Given the description of an element on the screen output the (x, y) to click on. 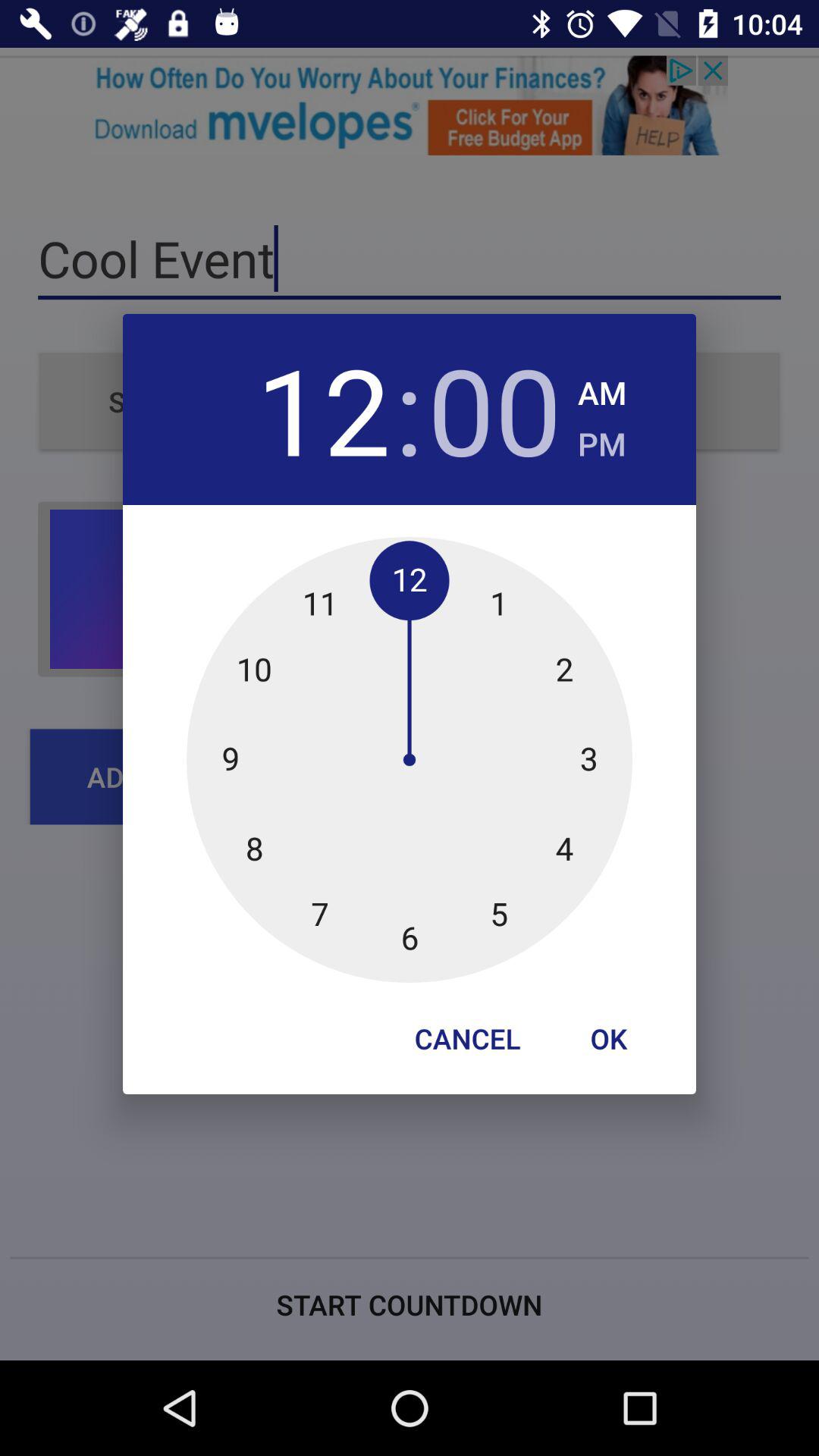
scroll to ok item (608, 1038)
